Given the description of an element on the screen output the (x, y) to click on. 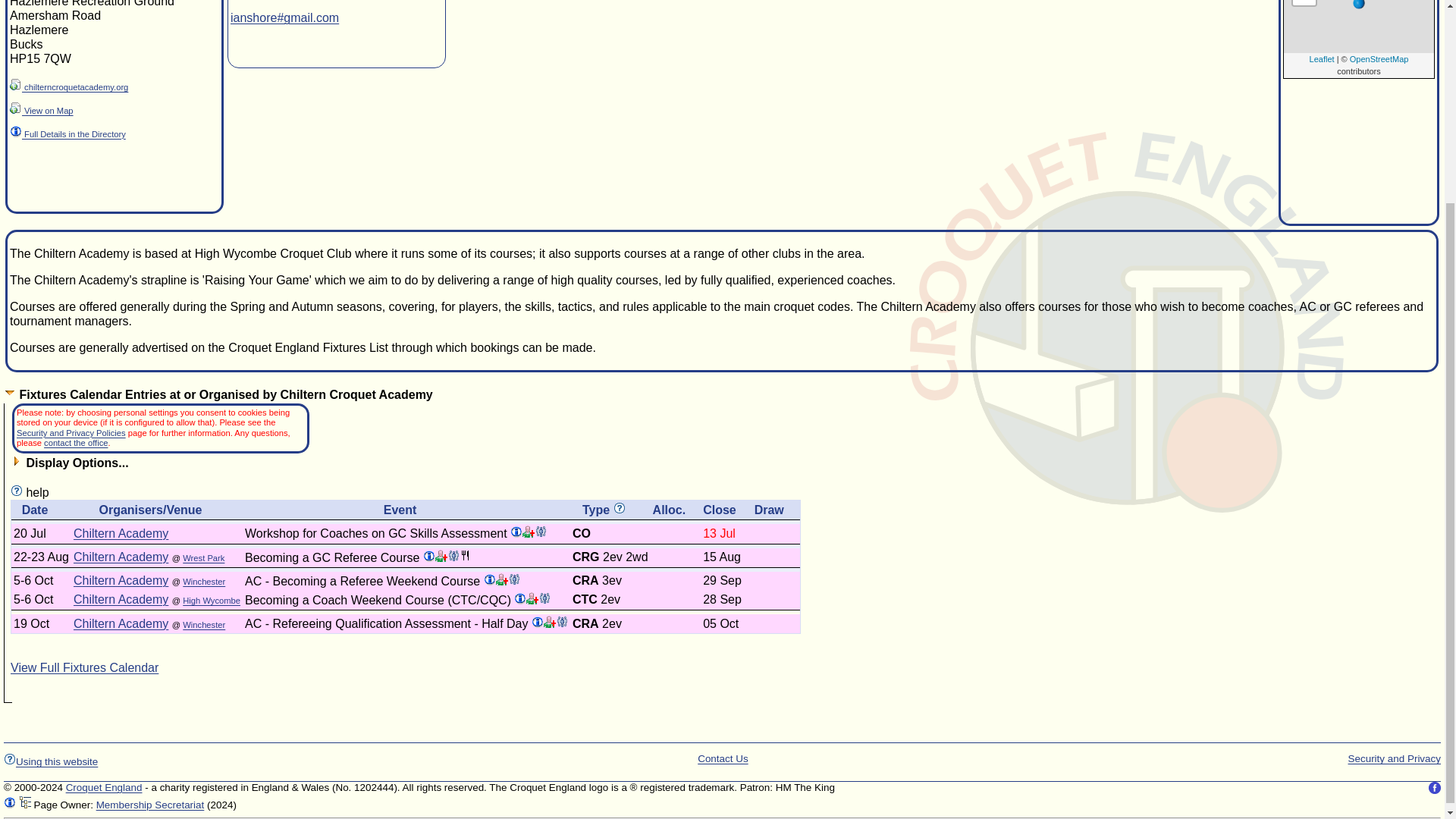
 Full Details in the Directory (67, 133)
 chilterncroquetacademy.org (69, 86)
 View on Map (42, 110)
